Given the description of an element on the screen output the (x, y) to click on. 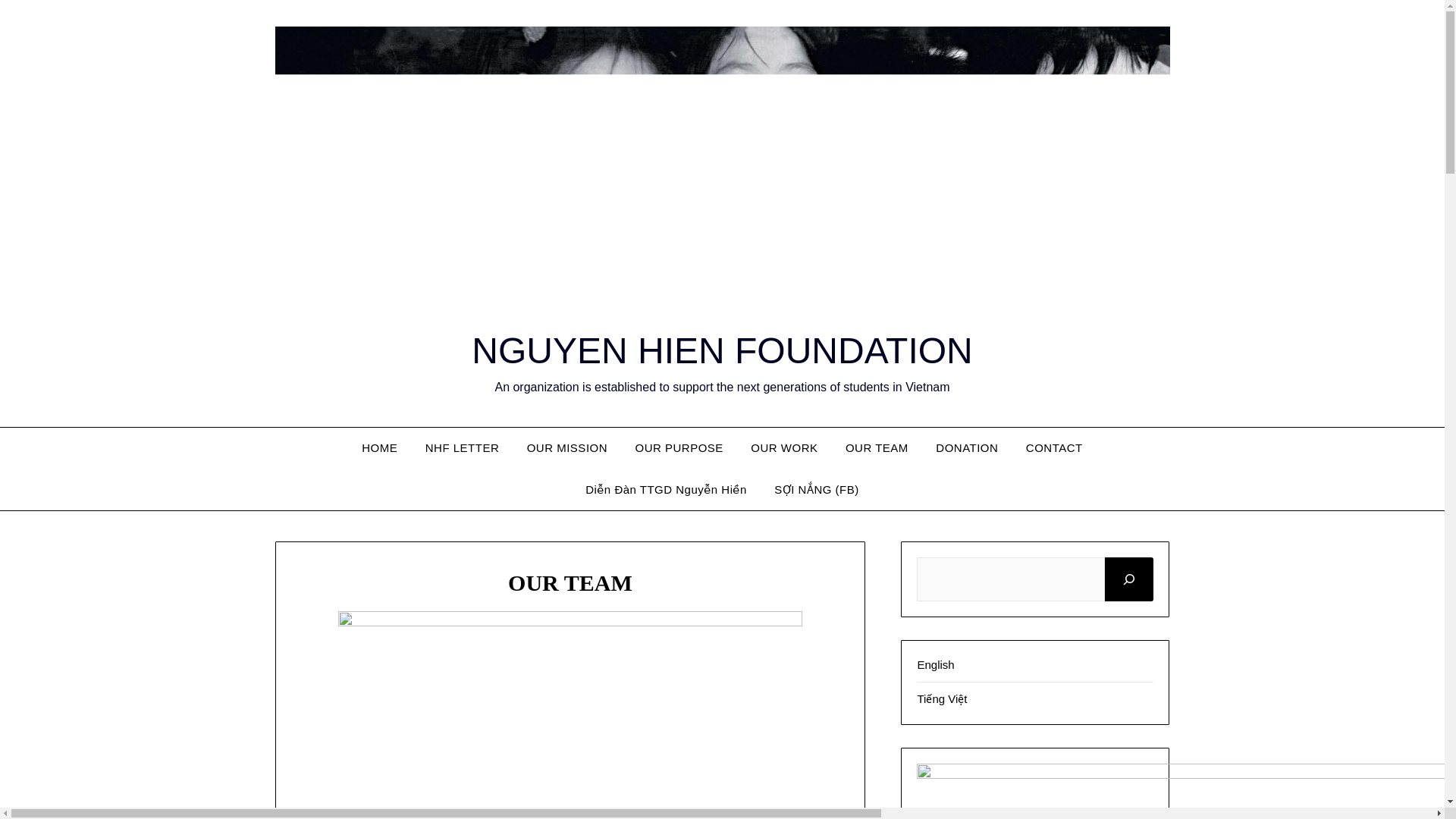
NHF LETTER (462, 447)
CONTACT (1053, 447)
OUR WORK (783, 447)
OUR TEAM (876, 447)
HOME (379, 447)
English (935, 664)
OUR PURPOSE (679, 447)
NGUYEN HIEN FOUNDATION (721, 350)
OUR MISSION (567, 447)
DONATION (966, 447)
